Given the description of an element on the screen output the (x, y) to click on. 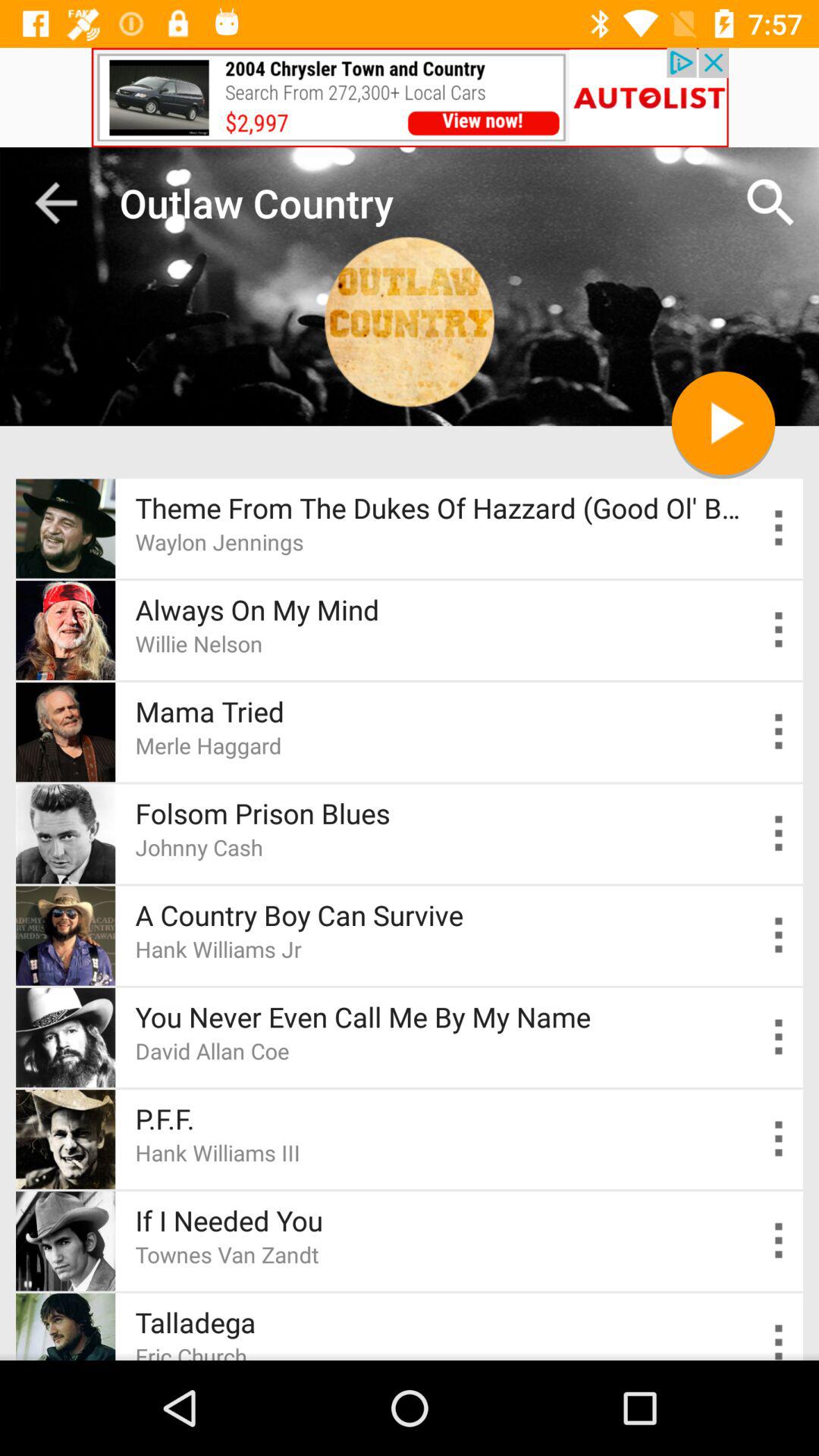
open info (779, 630)
